Given the description of an element on the screen output the (x, y) to click on. 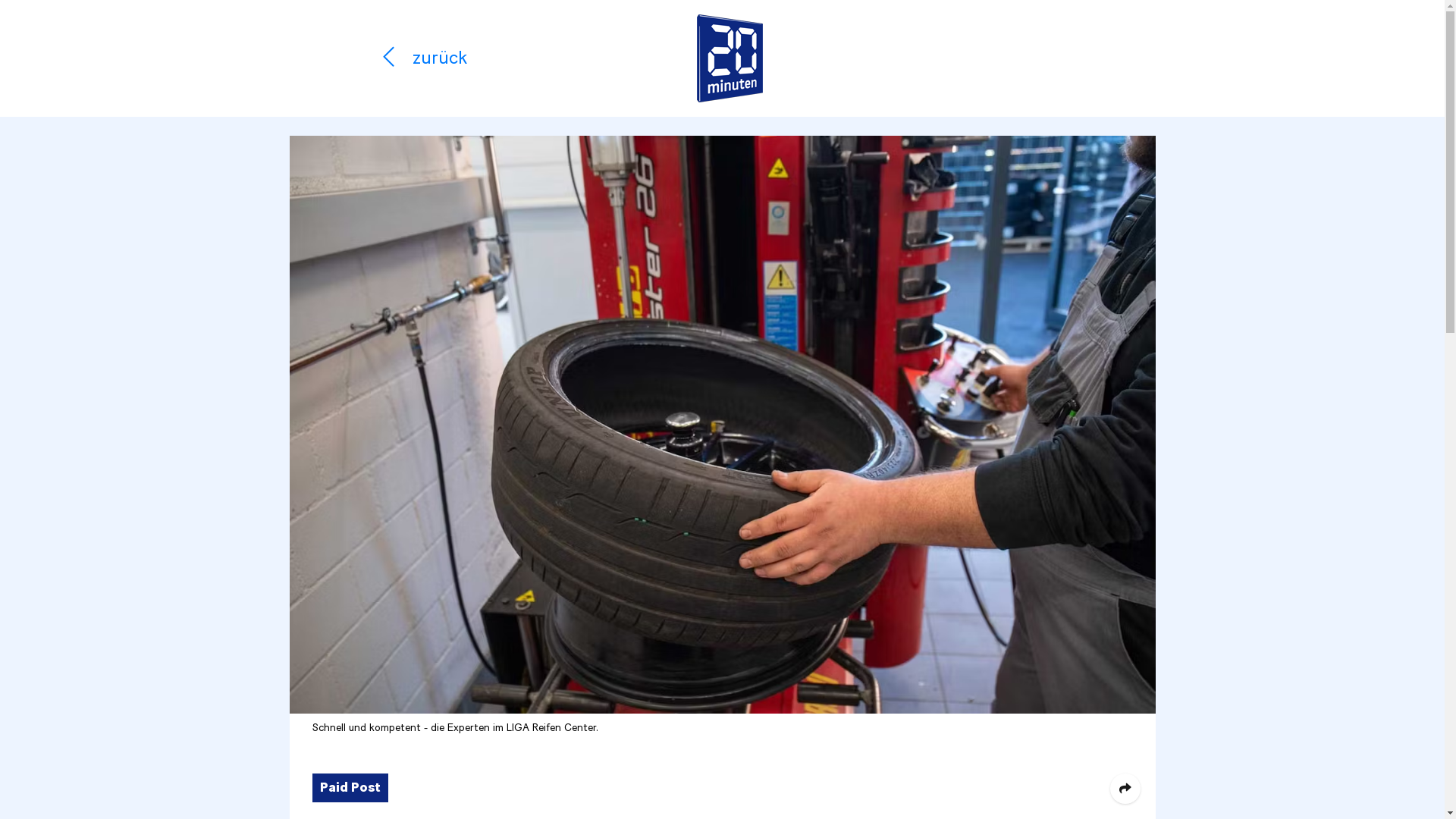
20 Minuten Element type: hover (729, 58)
Schnell und kompetent - die Experten im LIGA Reifen Center. Element type: hover (722, 424)
